Given the description of an element on the screen output the (x, y) to click on. 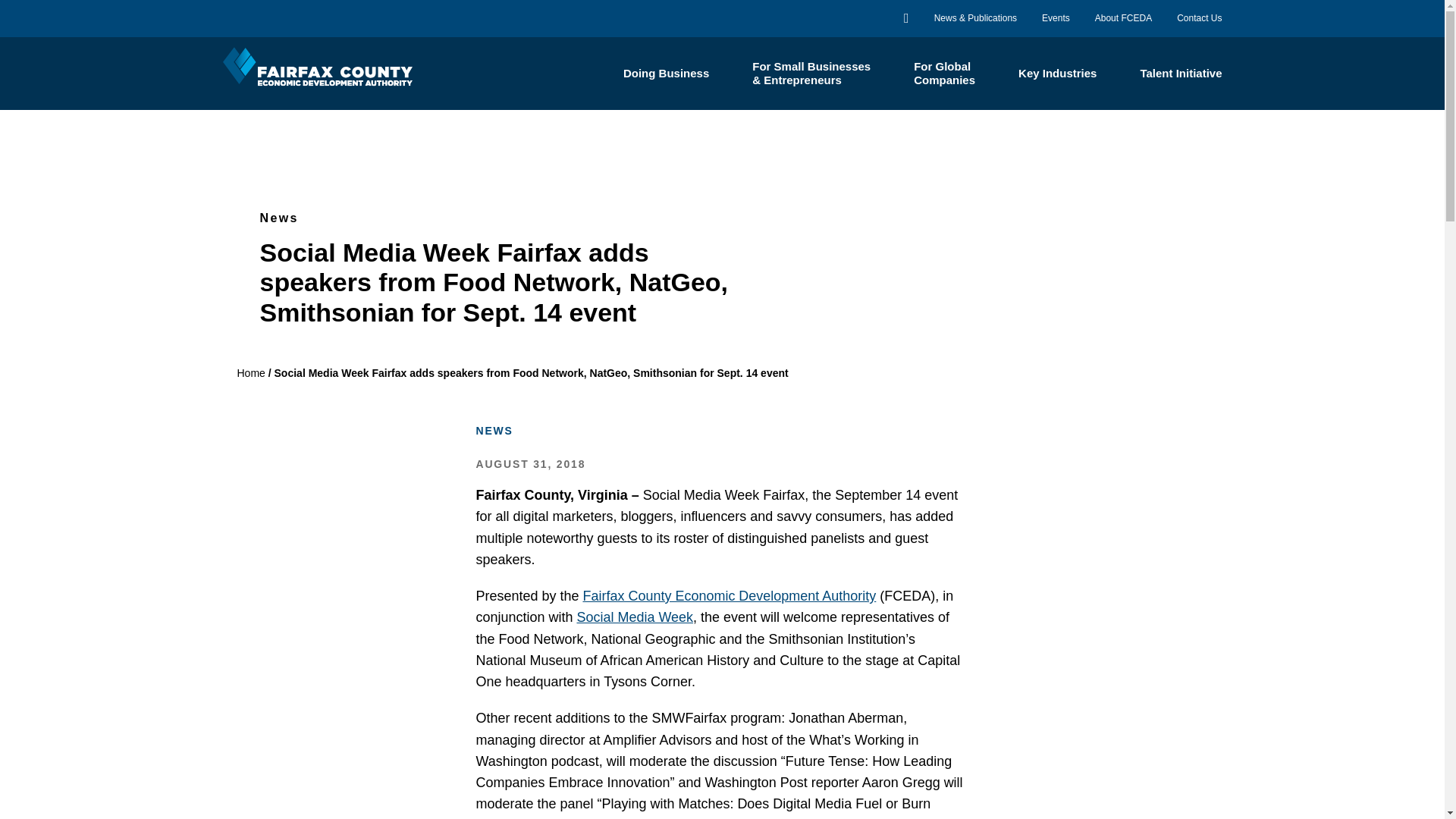
About FCEDA (1122, 18)
Doing Business (666, 72)
Contact Us (1198, 18)
Events (1056, 18)
